Given the description of an element on the screen output the (x, y) to click on. 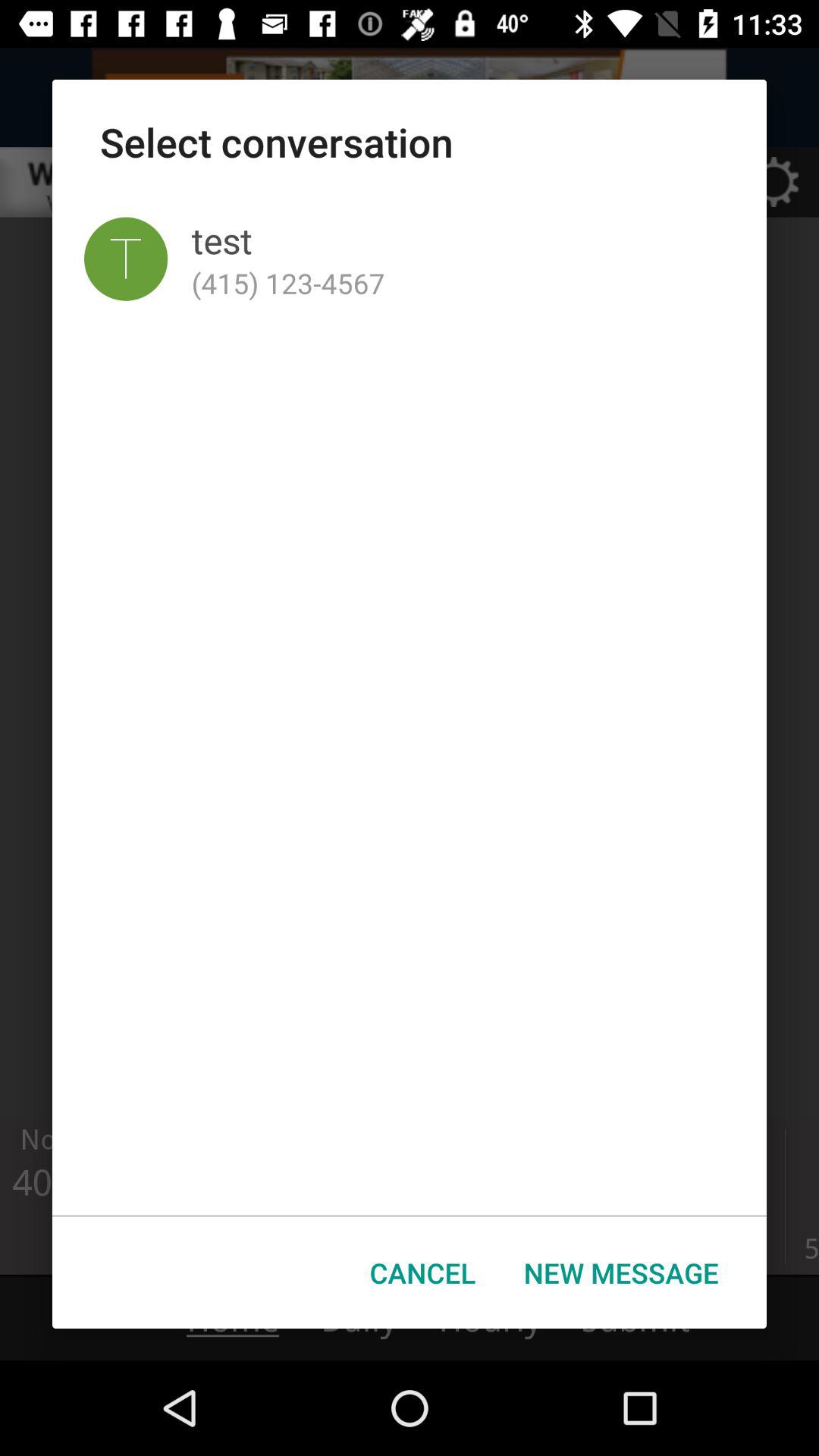
turn on new message icon (620, 1272)
